Given the description of an element on the screen output the (x, y) to click on. 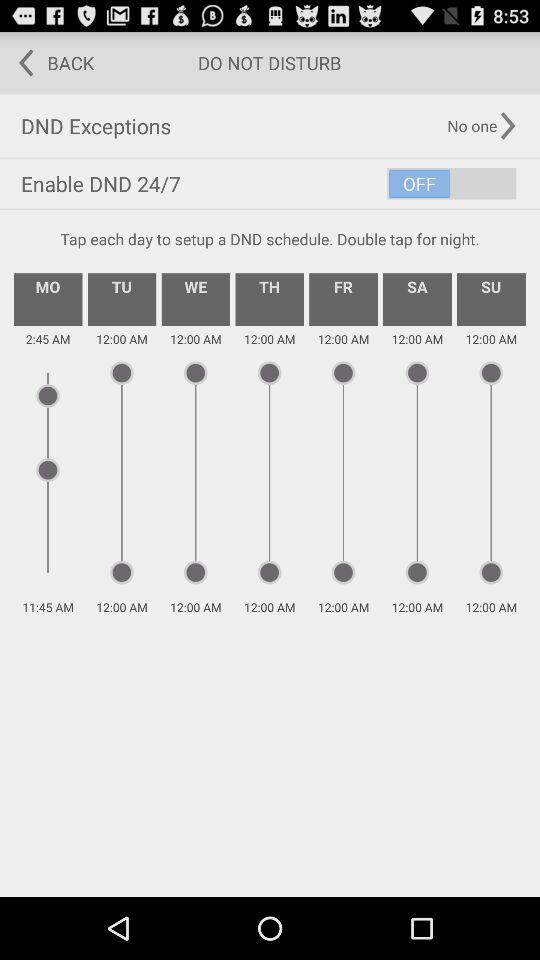
select the icon below the tap each day icon (269, 299)
